Given the description of an element on the screen output the (x, y) to click on. 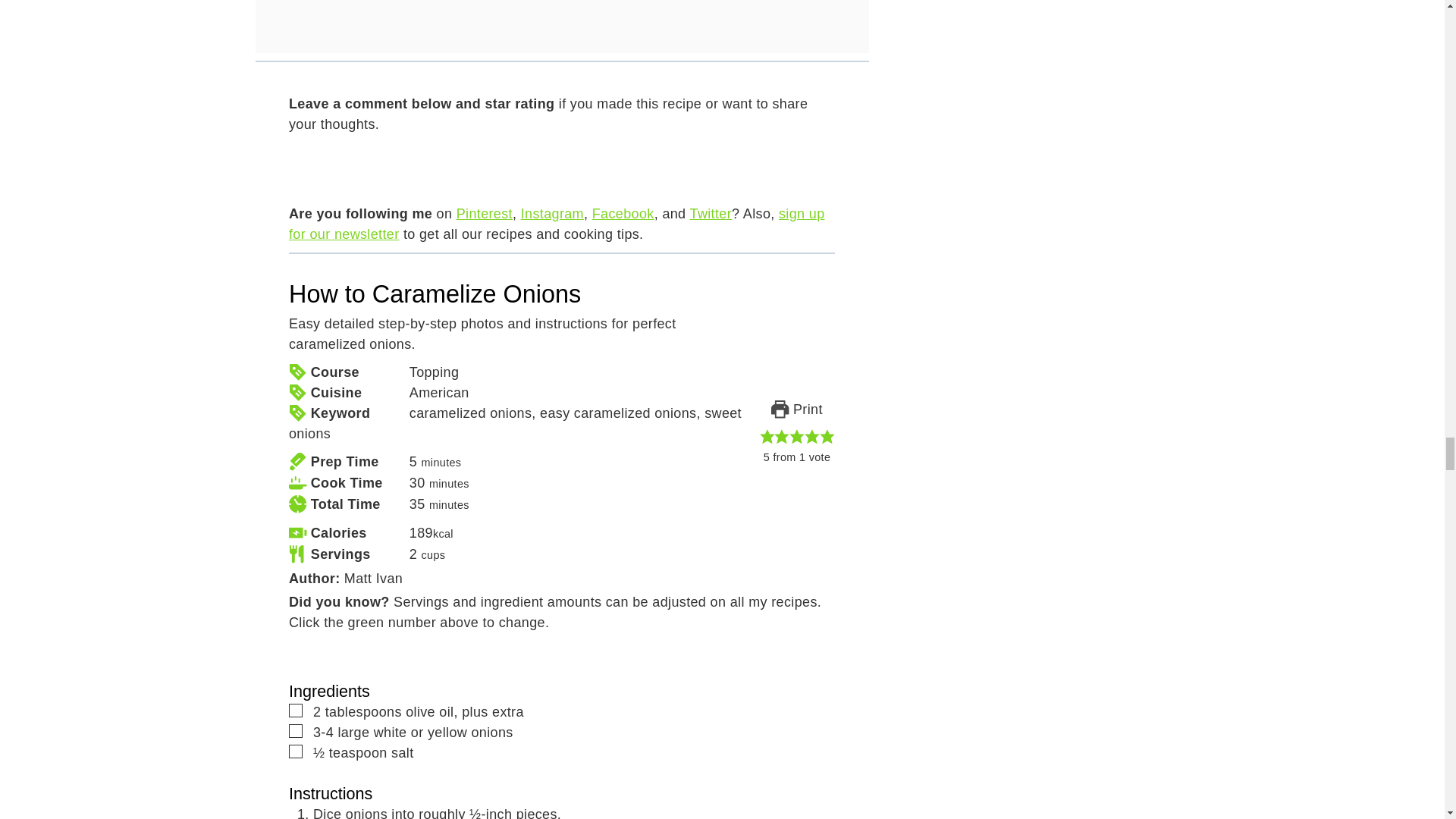
Plating Pixels newsletter (556, 223)
Plating Pixels on Facebook (622, 213)
Plating Pixels on Twitter (711, 213)
Plating Pixels on Instagram (552, 213)
Plating Pixels on Pinterest (484, 213)
